Given the description of an element on the screen output the (x, y) to click on. 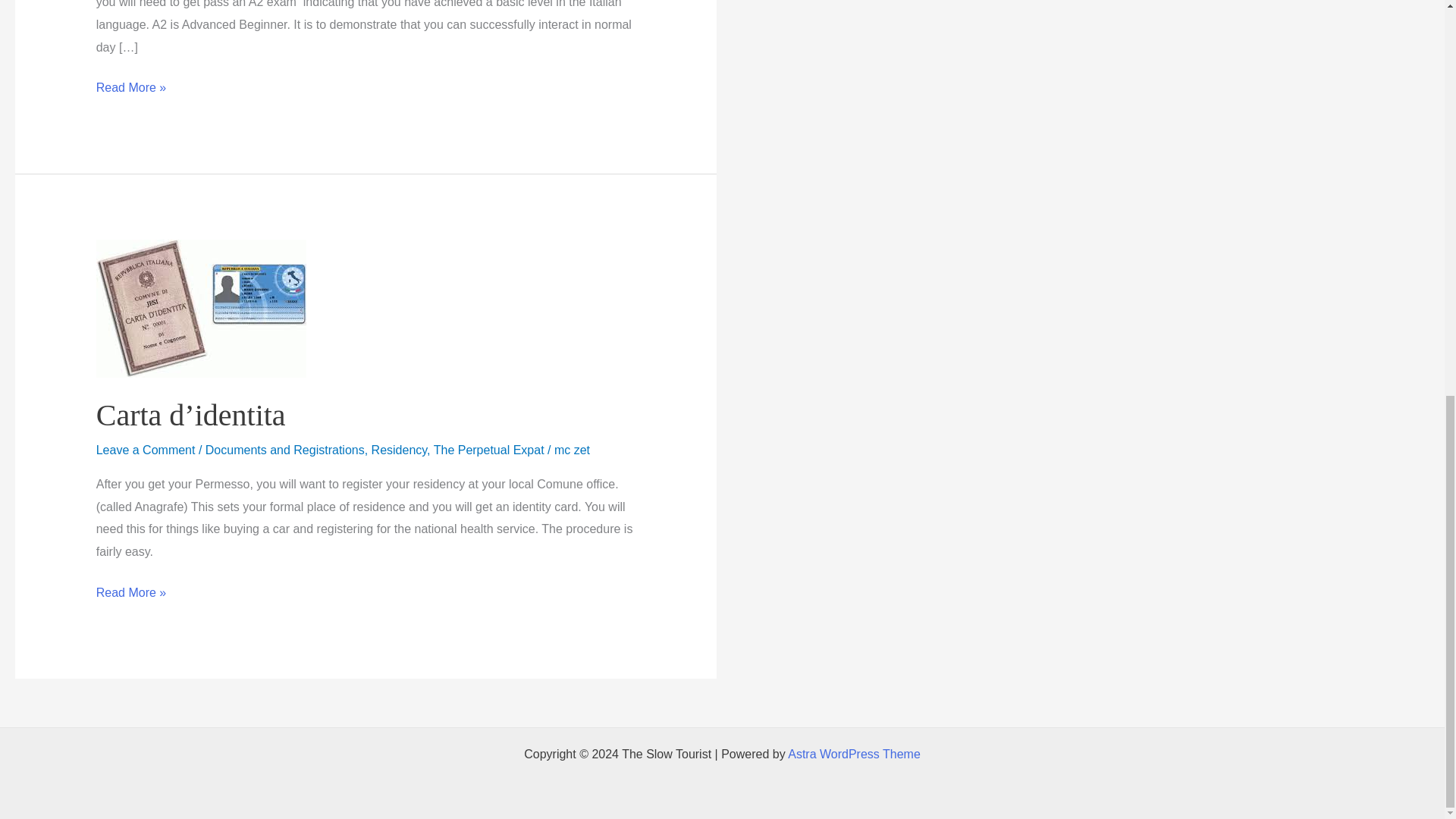
Leave a Comment (145, 449)
View all posts by mc zet (571, 449)
